Given the description of an element on the screen output the (x, y) to click on. 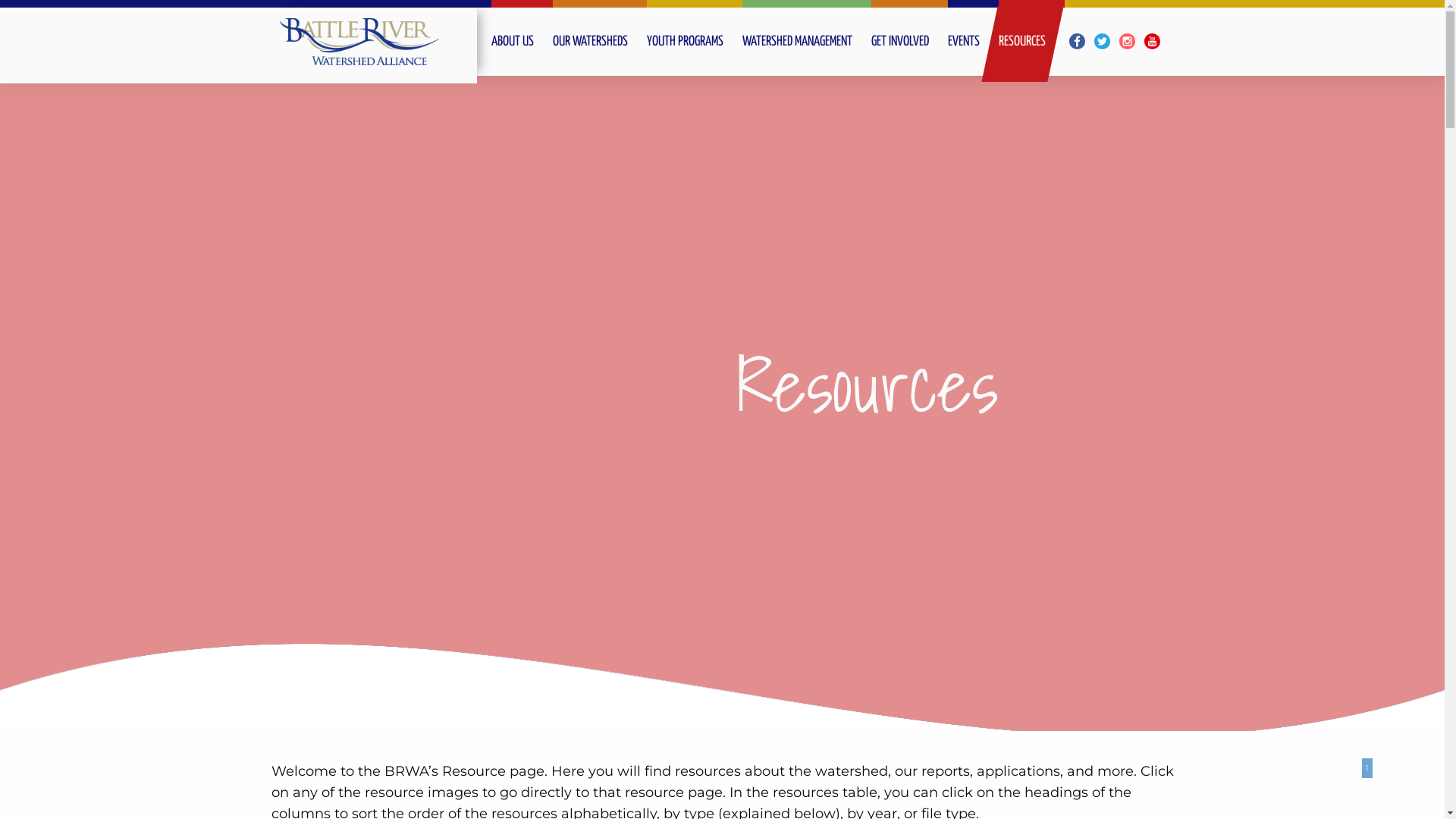
WATERSHED MANAGEMENT Element type: text (806, 40)
EVENTS Element type: text (972, 40)
OUR WATERSHEDS Element type: text (599, 40)
GET INVOLVED Element type: text (909, 40)
YOUTH PROGRAMS Element type: text (694, 40)
ABOUT US Element type: text (521, 40)
RESOURCES Element type: text (1031, 40)
